Given the description of an element on the screen output the (x, y) to click on. 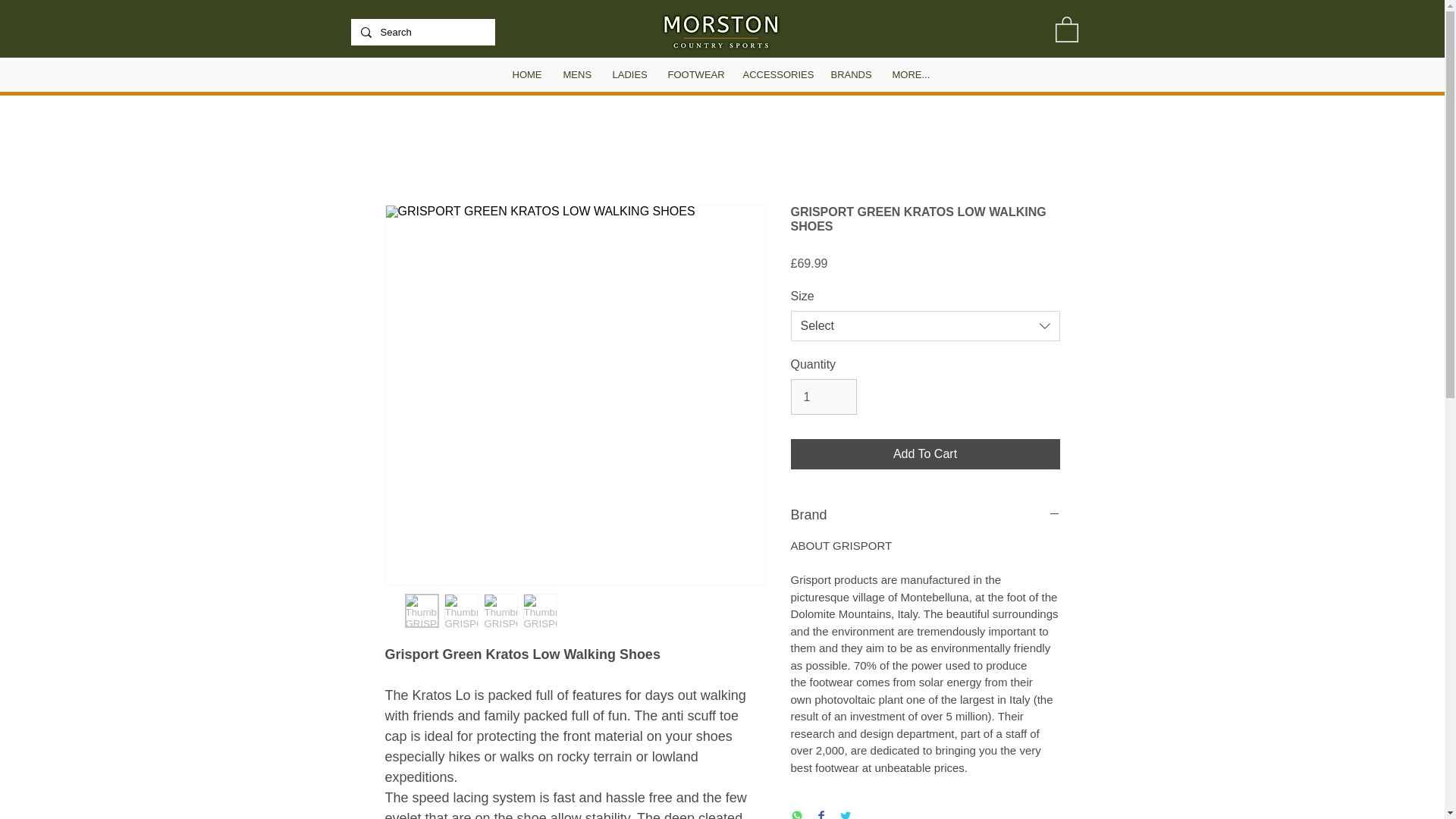
FOOTWEAR (694, 74)
HOME (525, 74)
1 (823, 396)
